Given the description of an element on the screen output the (x, y) to click on. 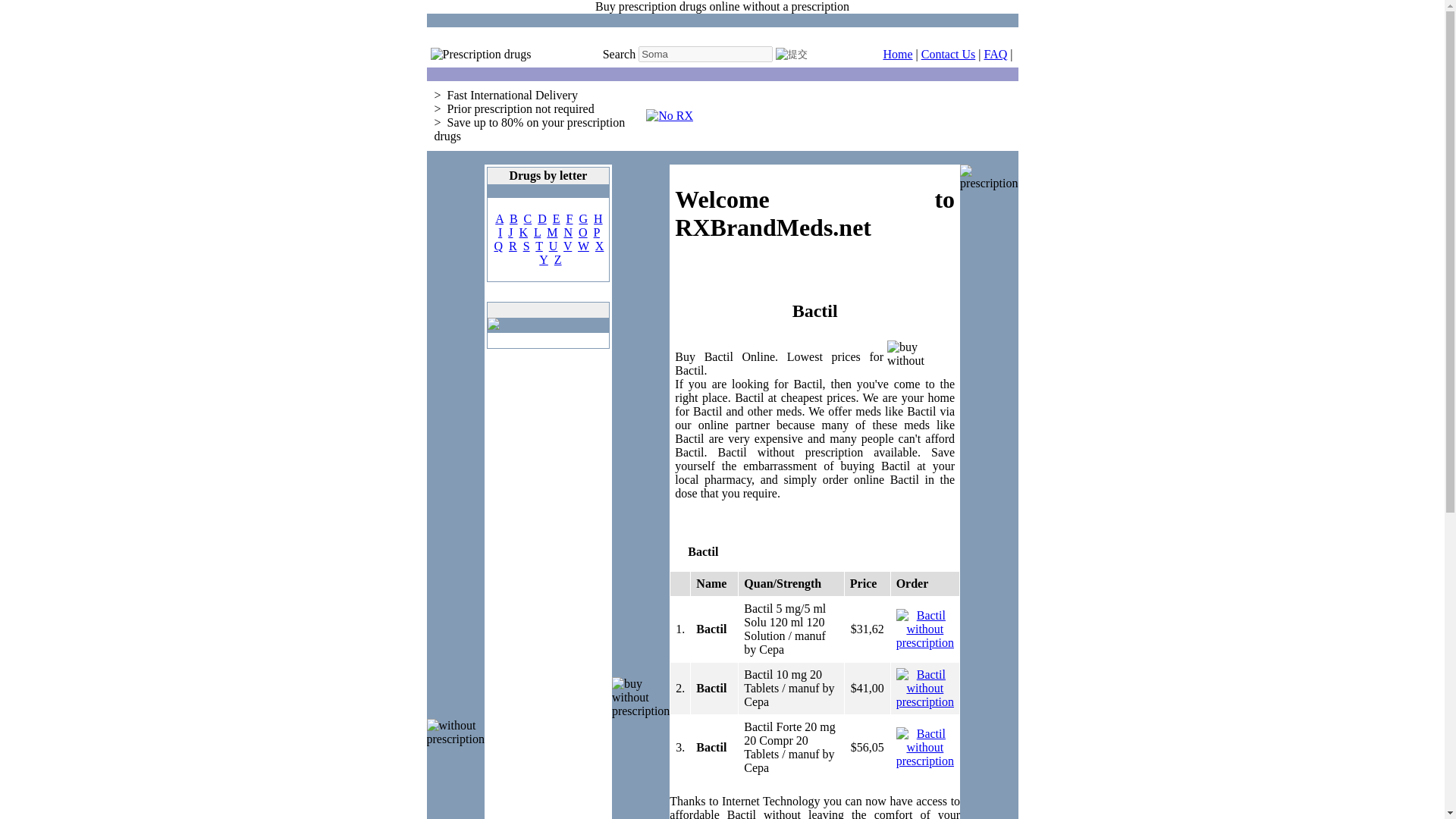
FAQ (995, 52)
Contact Us (948, 52)
Home (897, 52)
Soma (706, 53)
